Given the description of an element on the screen output the (x, y) to click on. 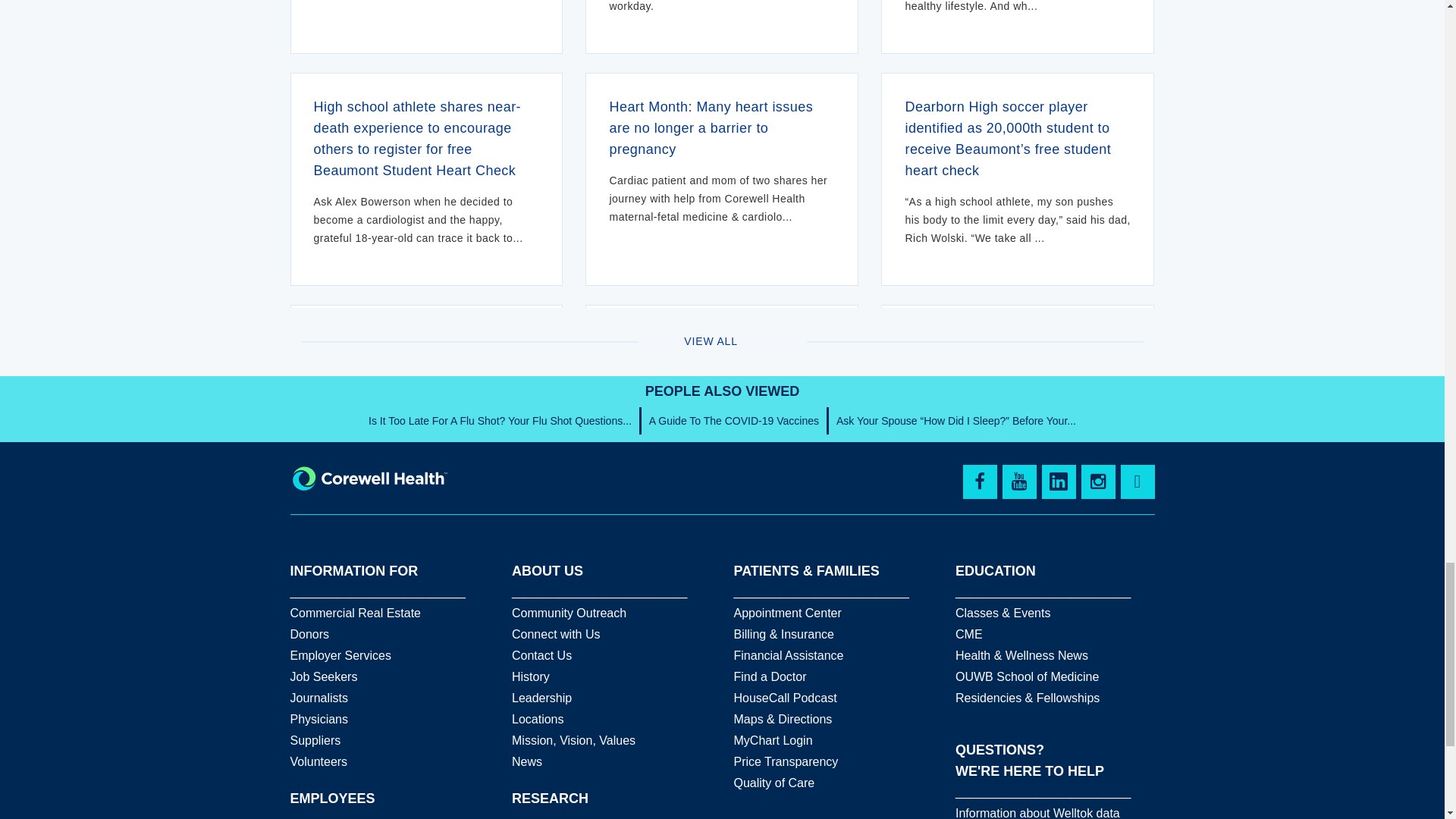
Back to home page (368, 478)
